Given the description of an element on the screen output the (x, y) to click on. 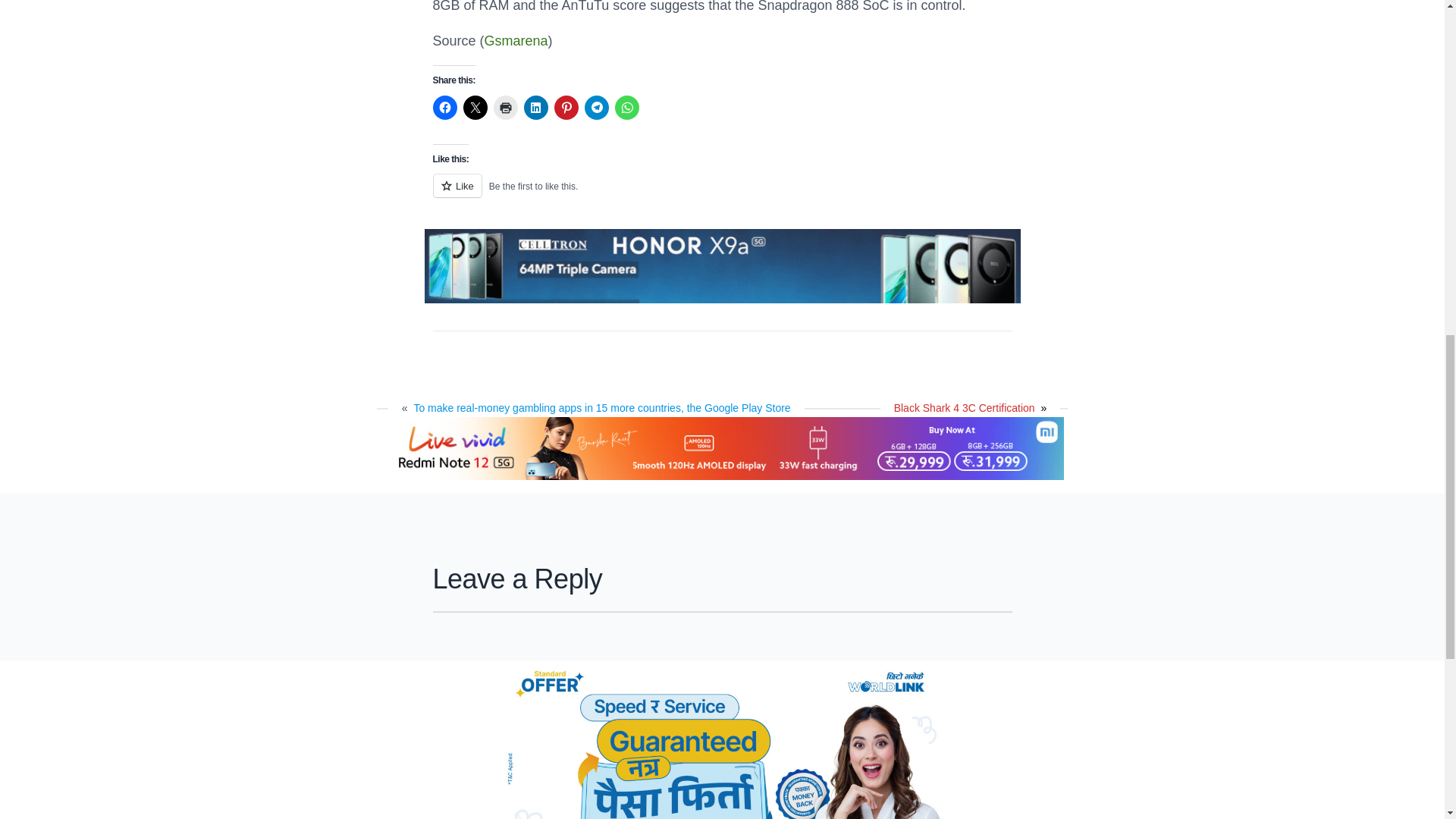
Click to share on Facebook (444, 107)
Gsmarena (516, 40)
Click to share on X (474, 107)
Click to share on Telegram (595, 107)
Black Shark 4 3C Certification (964, 408)
Click to share on WhatsApp (626, 107)
Click to share on Pinterest (565, 107)
Like or Reblog (721, 194)
Click to print (504, 107)
Click to share on LinkedIn (534, 107)
